Given the description of an element on the screen output the (x, y) to click on. 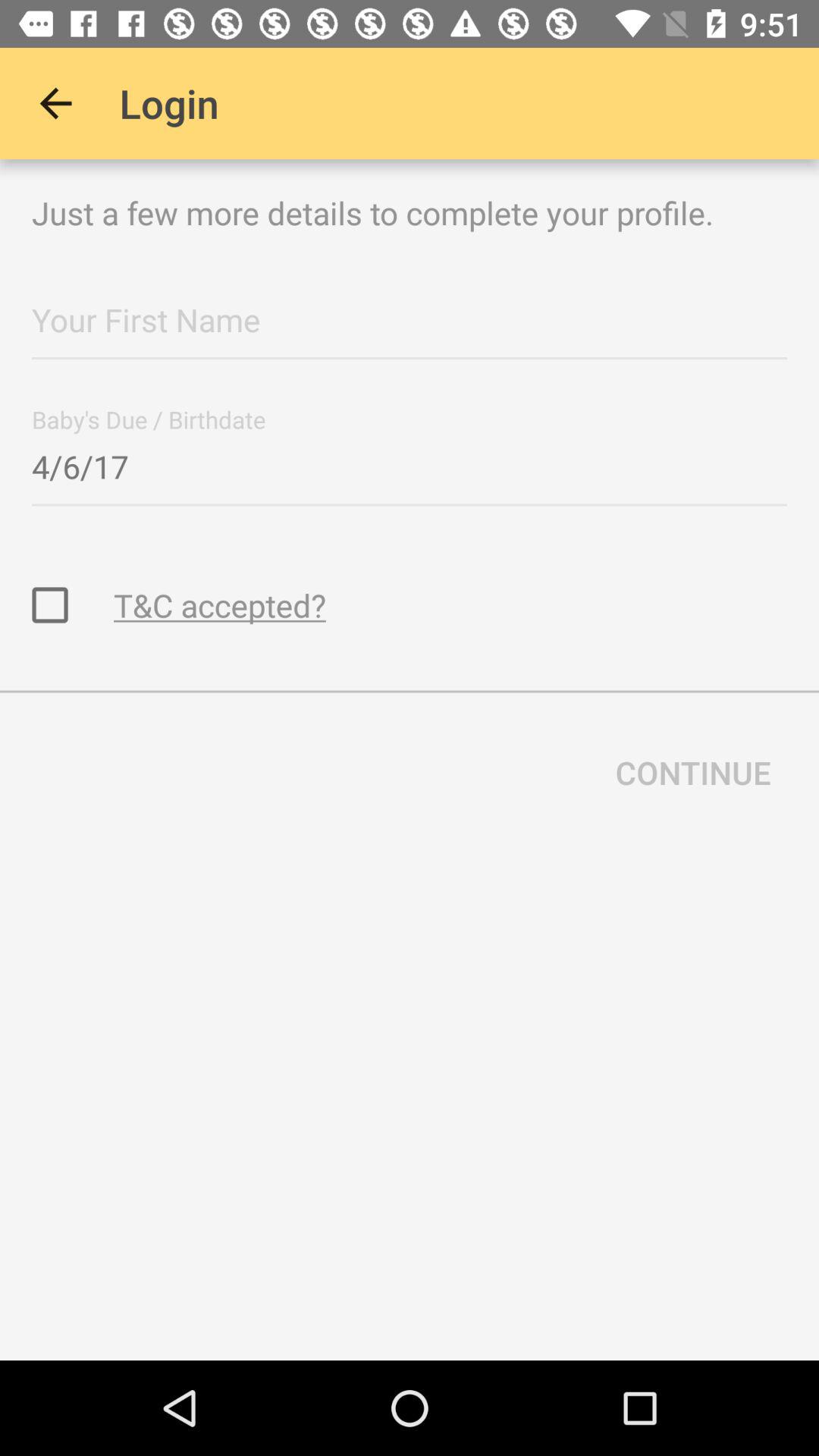
select the 4/6/17 item (409, 461)
